Given the description of an element on the screen output the (x, y) to click on. 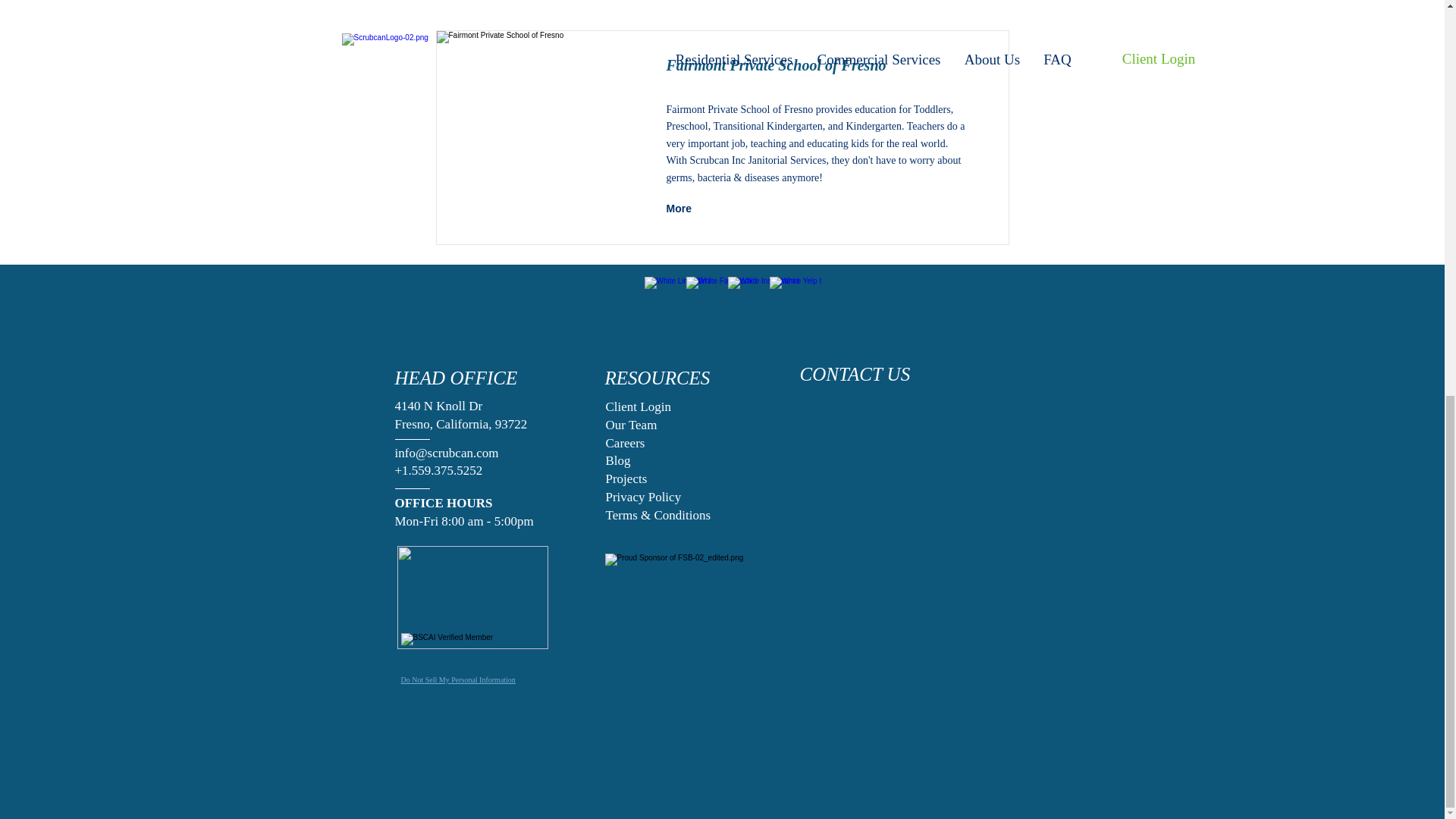
Blog (617, 460)
Fairmont Private School of Fresno (534, 129)
Careers (625, 442)
Our Team (630, 424)
Privacy Policy (643, 496)
badge-8173.png (471, 646)
Do Not Sell My Personal Information (457, 679)
Client Login (637, 406)
